Given the description of an element on the screen output the (x, y) to click on. 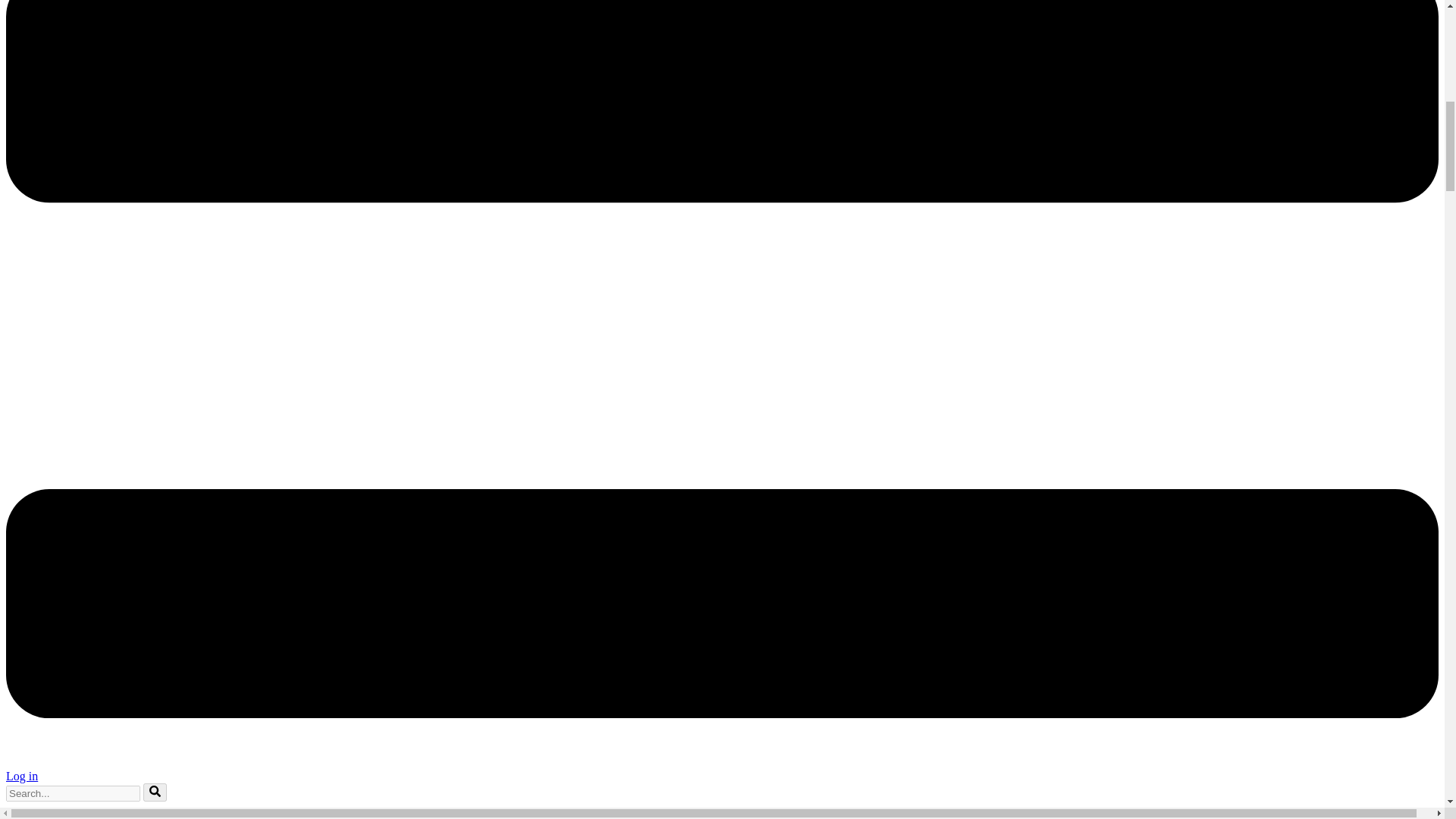
Log in (21, 775)
Latest (50, 816)
